Given the description of an element on the screen output the (x, y) to click on. 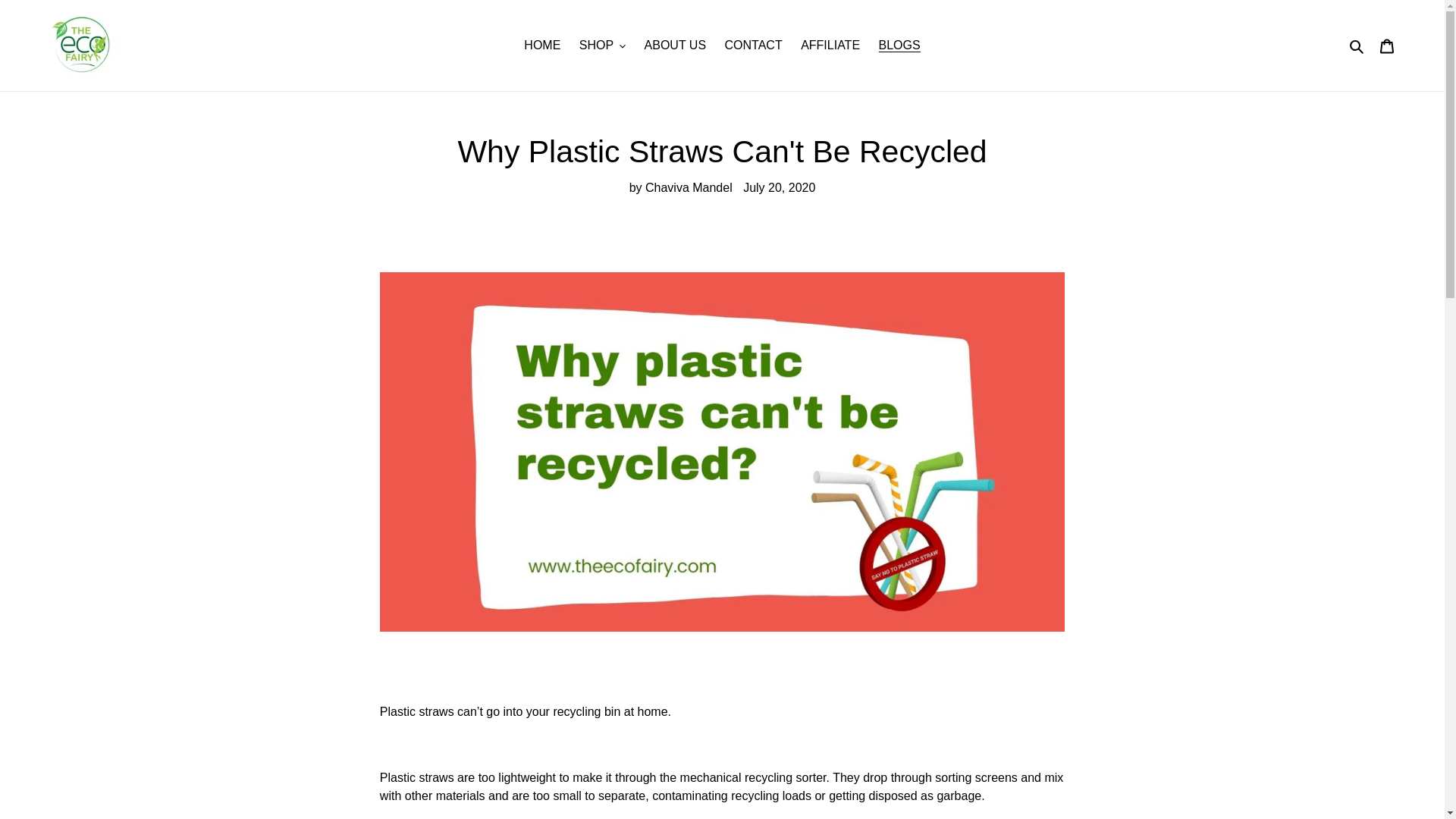
SHOP (602, 45)
ABOUT US (675, 45)
CONTACT (753, 45)
HOME (541, 45)
Search (1357, 45)
AFFILIATE (830, 45)
BLOGS (899, 45)
Cart (1387, 45)
